Given the description of an element on the screen output the (x, y) to click on. 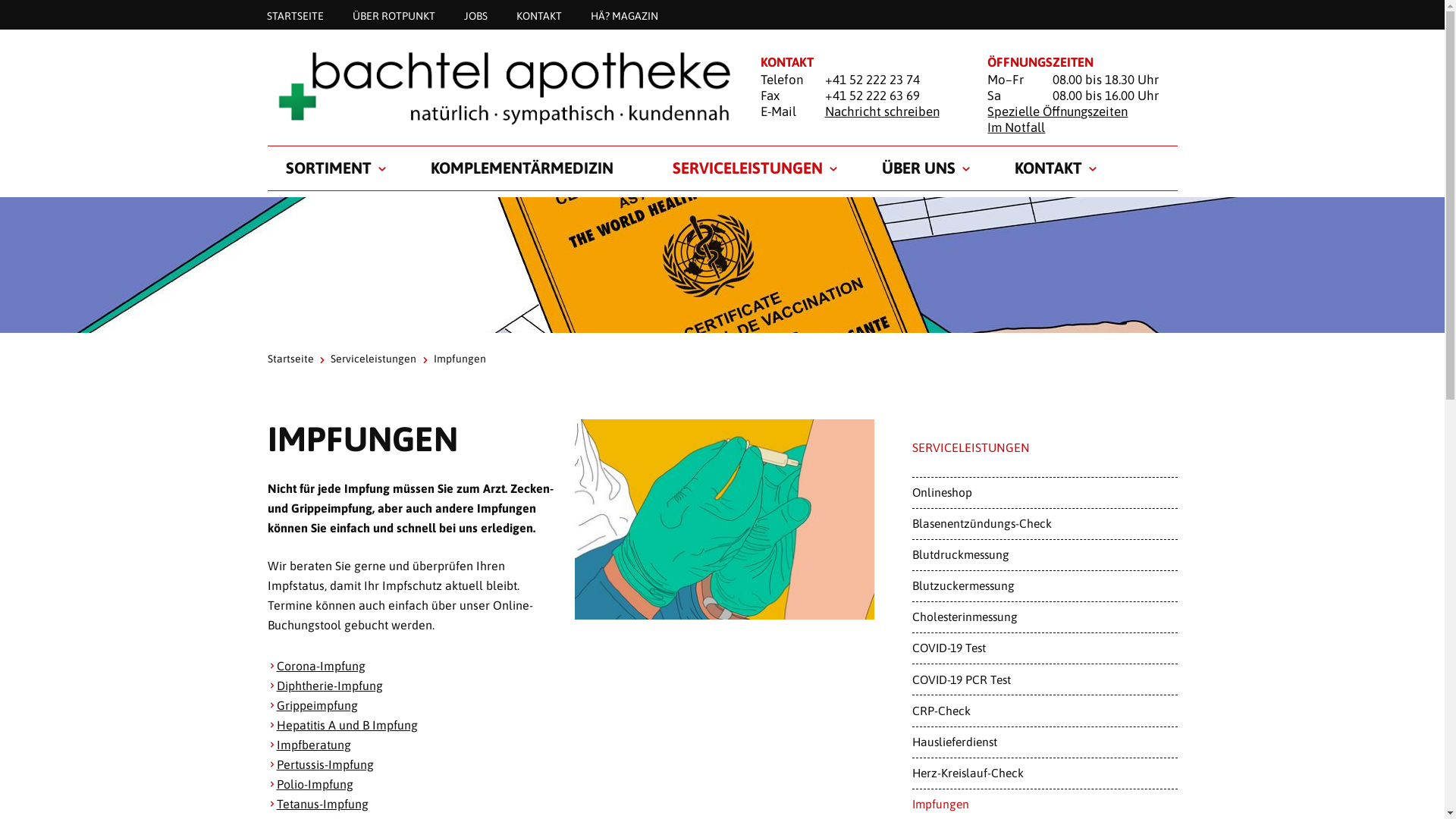
SORTIMENT Element type: text (327, 168)
COVID-19 Test Element type: text (1043, 648)
JOBS Element type: text (475, 15)
Impfberatung Element type: text (313, 744)
STARTSEITE Element type: text (294, 15)
SERVICELEISTUNGEN Element type: text (746, 168)
Blutzuckermessung Element type: text (1043, 586)
Blutdruckmessung Element type: text (1043, 554)
Im Notfall Element type: text (1015, 126)
Pertussis-Impfung Element type: text (324, 764)
Serviceleistungen Element type: text (373, 358)
Diphtherie-Impfung Element type: text (329, 685)
Hepatitis A und B Impfung Element type: text (346, 724)
Startseite Element type: text (289, 358)
Corona-Impfung Element type: text (320, 665)
KONTAKT Element type: text (1048, 168)
Onlineshop Element type: text (1043, 492)
CRP-Check Element type: text (1043, 710)
KONTAKT Element type: text (539, 15)
Polio-Impfung Element type: text (314, 783)
Impfung in der Rotpunkt Apotheke Element type: hover (724, 519)
COVID-19 PCR Test Element type: text (1043, 679)
Grippeimpfung Element type: text (316, 705)
Nachricht schreiben Element type: text (882, 111)
Herz-Kreislauf-Check Element type: text (1043, 773)
Cholesterinmessung Element type: text (1043, 617)
Startseite Element type: hover (493, 88)
Tetanus-Impfung Element type: text (321, 803)
Hauslieferdienst Element type: text (1043, 741)
